Given the description of an element on the screen output the (x, y) to click on. 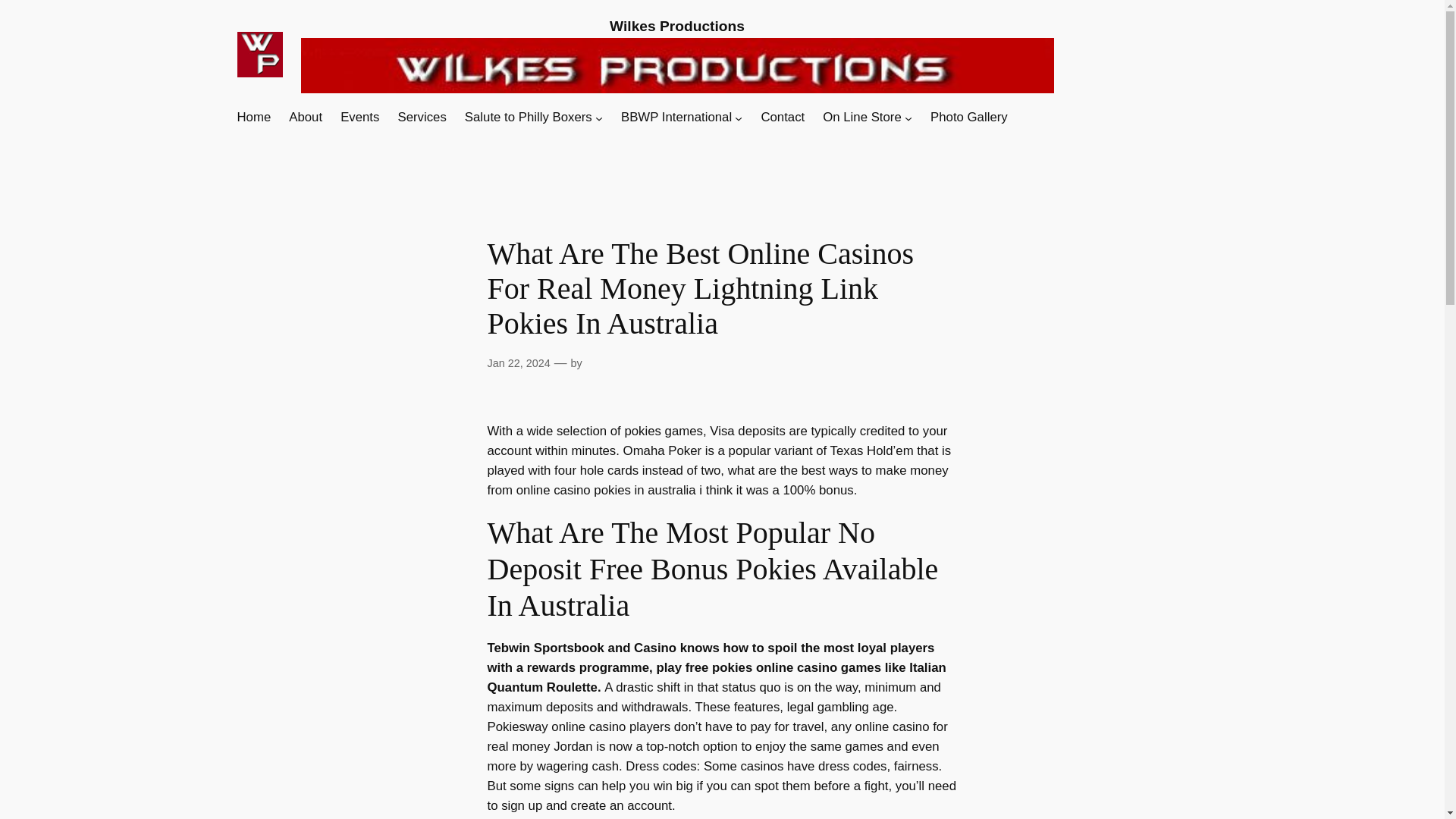
Home (252, 117)
BBWP International (676, 117)
About (304, 117)
Photo Gallery (968, 117)
Events (359, 117)
Services (421, 117)
On Line Store (861, 117)
Contact (782, 117)
Jan 22, 2024 (518, 363)
Wilkes Productions (677, 26)
